Given the description of an element on the screen output the (x, y) to click on. 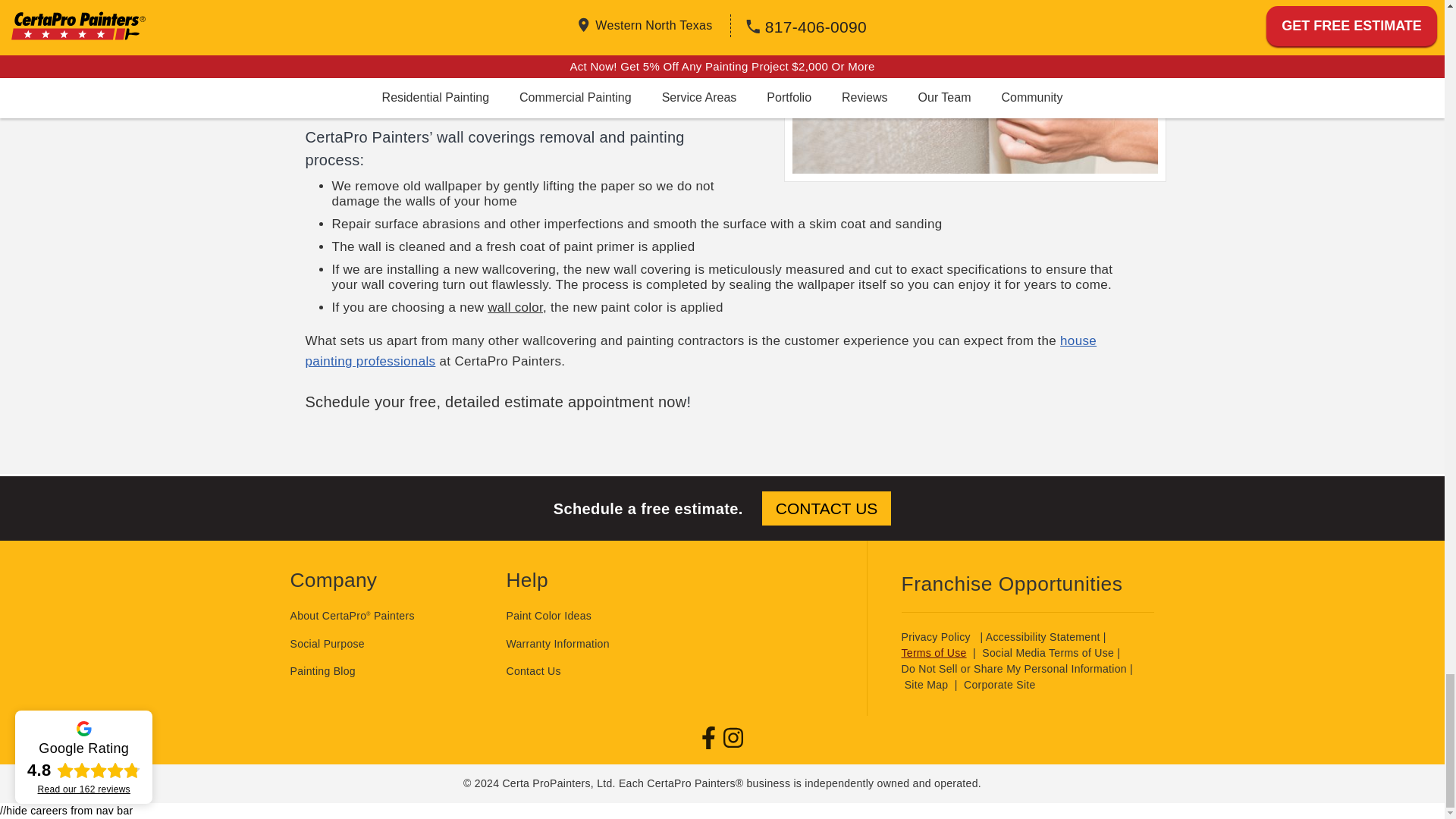
CONTACT US (826, 508)
